Given the description of an element on the screen output the (x, y) to click on. 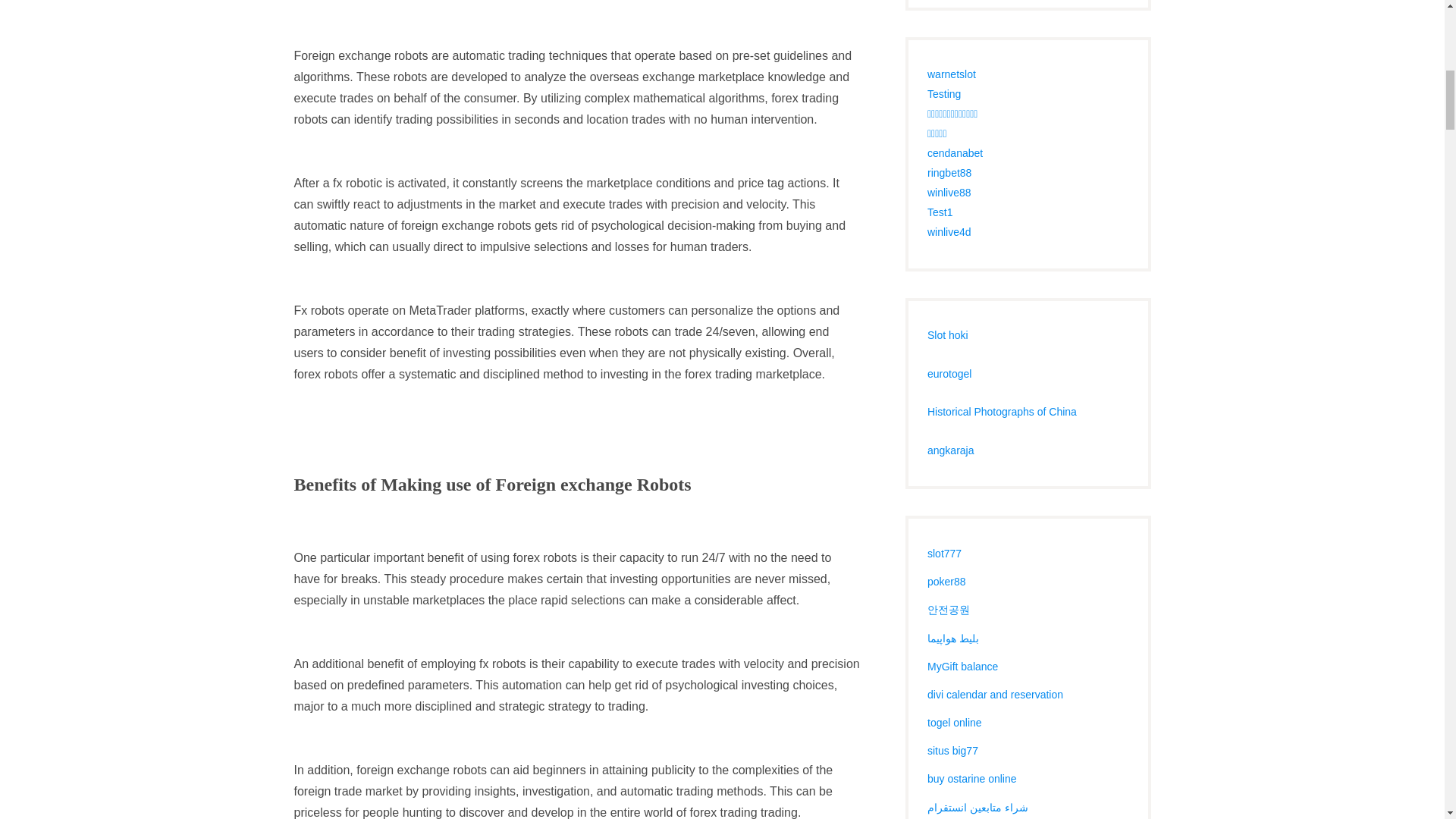
cendanabet (954, 152)
warnetslot (951, 73)
ringbet88 (949, 173)
poker88 (946, 581)
slot777 (943, 553)
Testing (943, 93)
Historical Photographs of China (1002, 411)
buy ostarine online (971, 778)
divi calendar and reservation (994, 694)
eurotogel (949, 373)
